Given the description of an element on the screen output the (x, y) to click on. 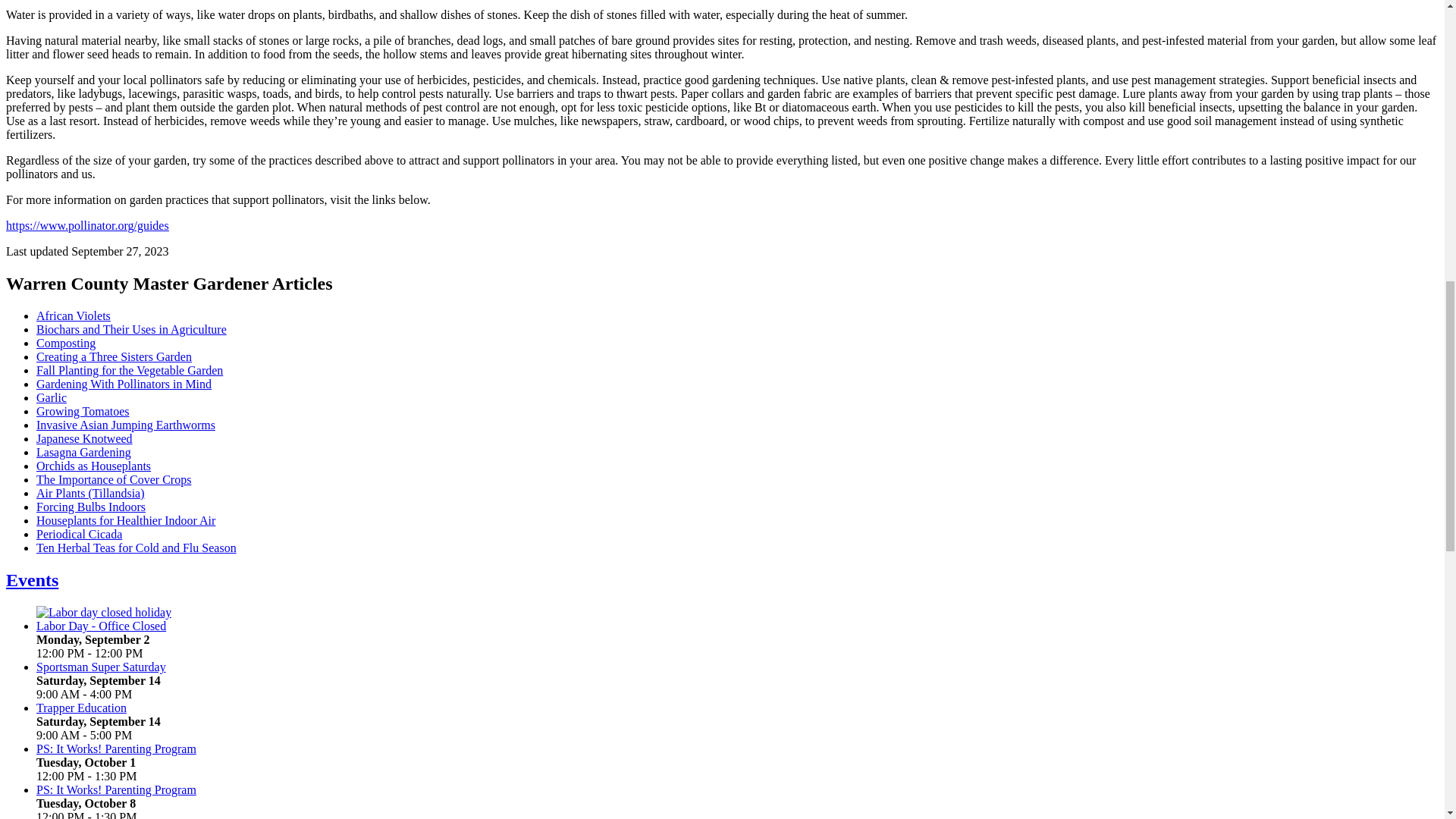
African Violets (73, 315)
Labor Day - Office Closed (103, 612)
Composting (66, 342)
Biochars and Their Uses in Agriculture (131, 328)
